Given the description of an element on the screen output the (x, y) to click on. 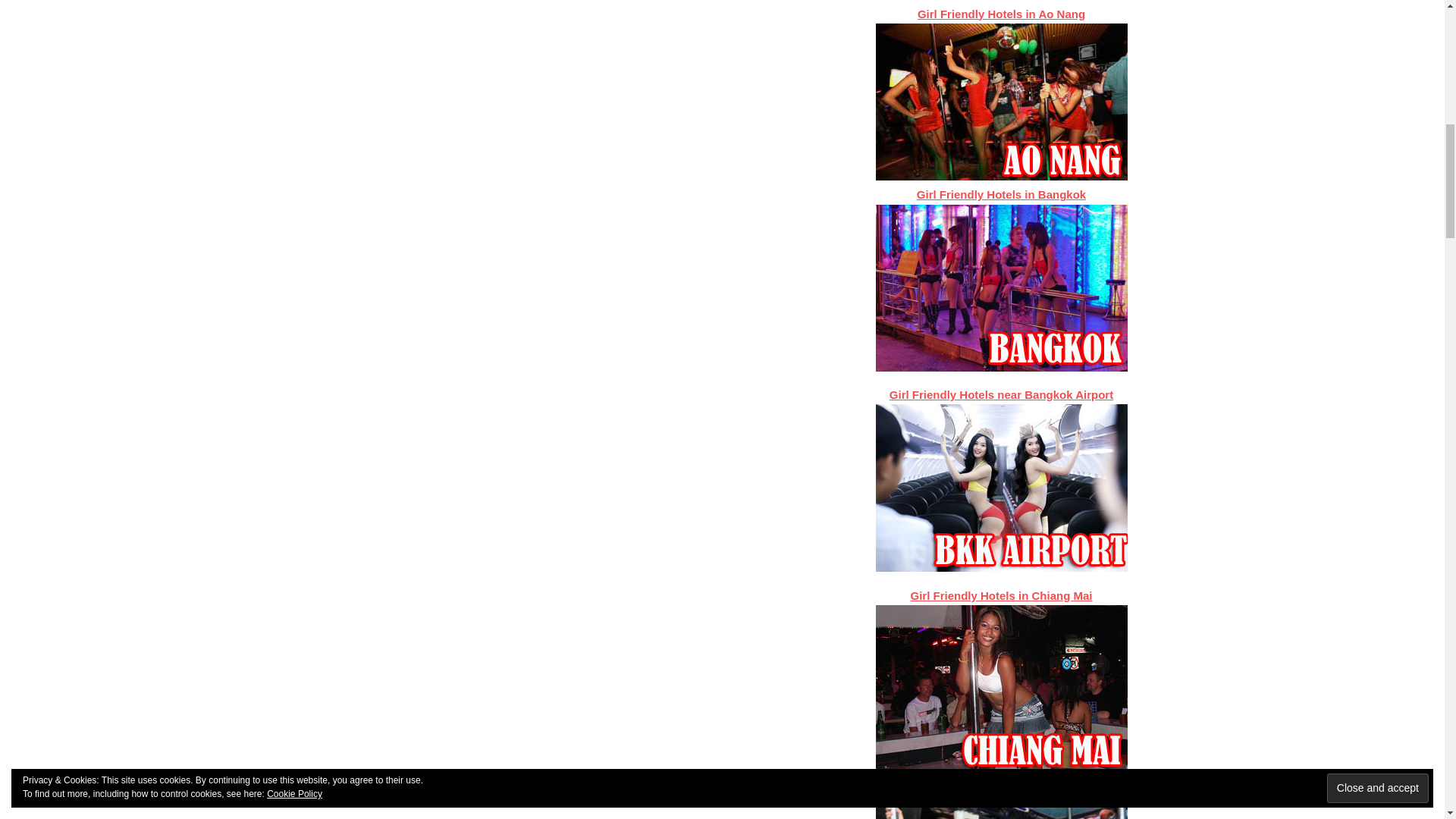
Girl Friendly Hotels near Bangkok Airport (1001, 394)
Girl Friendly Hotels in Chiang Mai (1001, 594)
Girl Friendly Hotels in Bangkok (1001, 194)
Girl Friendly Hotels in Ao Nang (1000, 13)
Girl Friendly Hotels in Hua Hin (1000, 796)
